Given the description of an element on the screen output the (x, y) to click on. 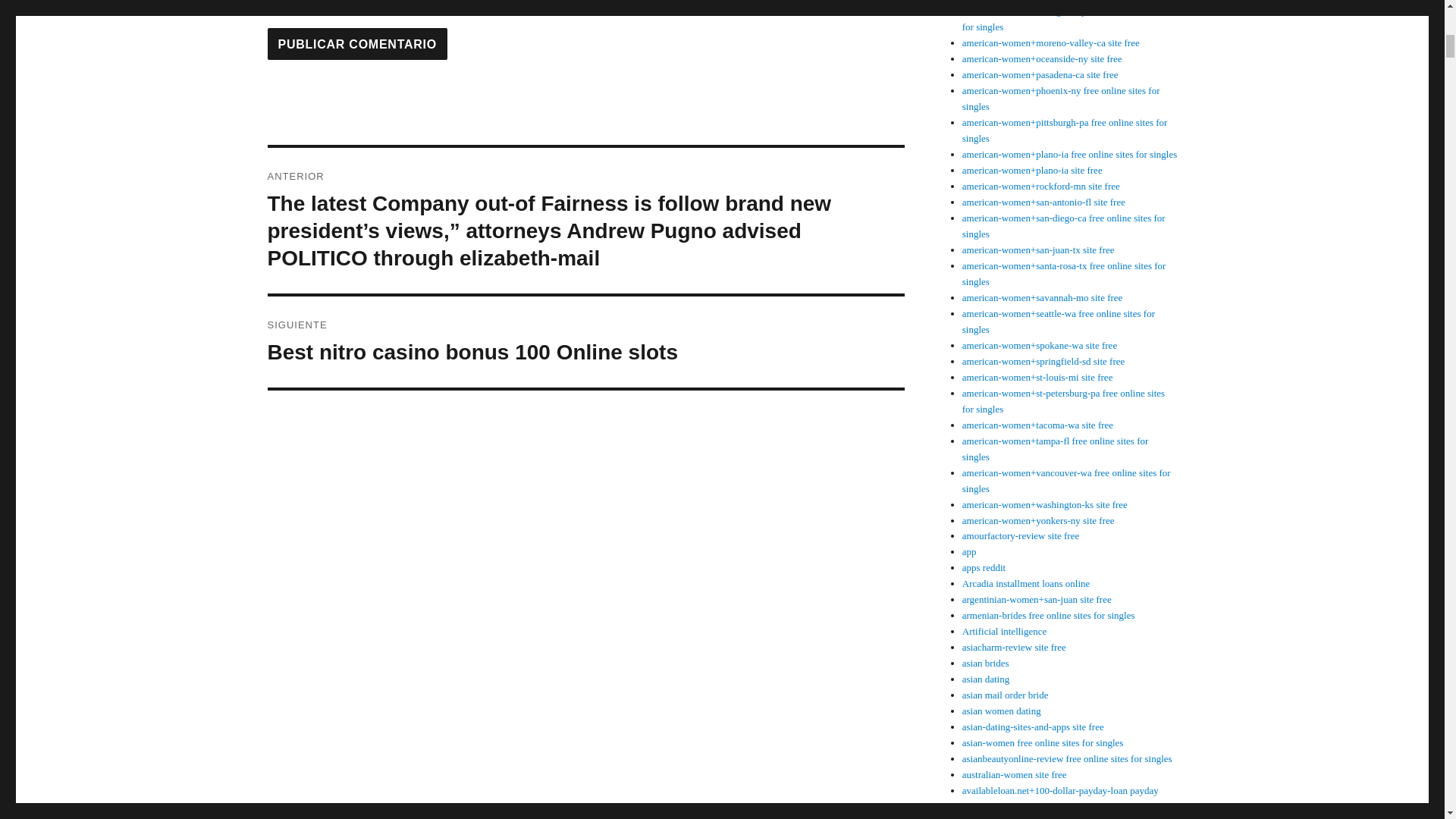
Publicar comentario (356, 43)
Publicar comentario (356, 43)
